Given the description of an element on the screen output the (x, y) to click on. 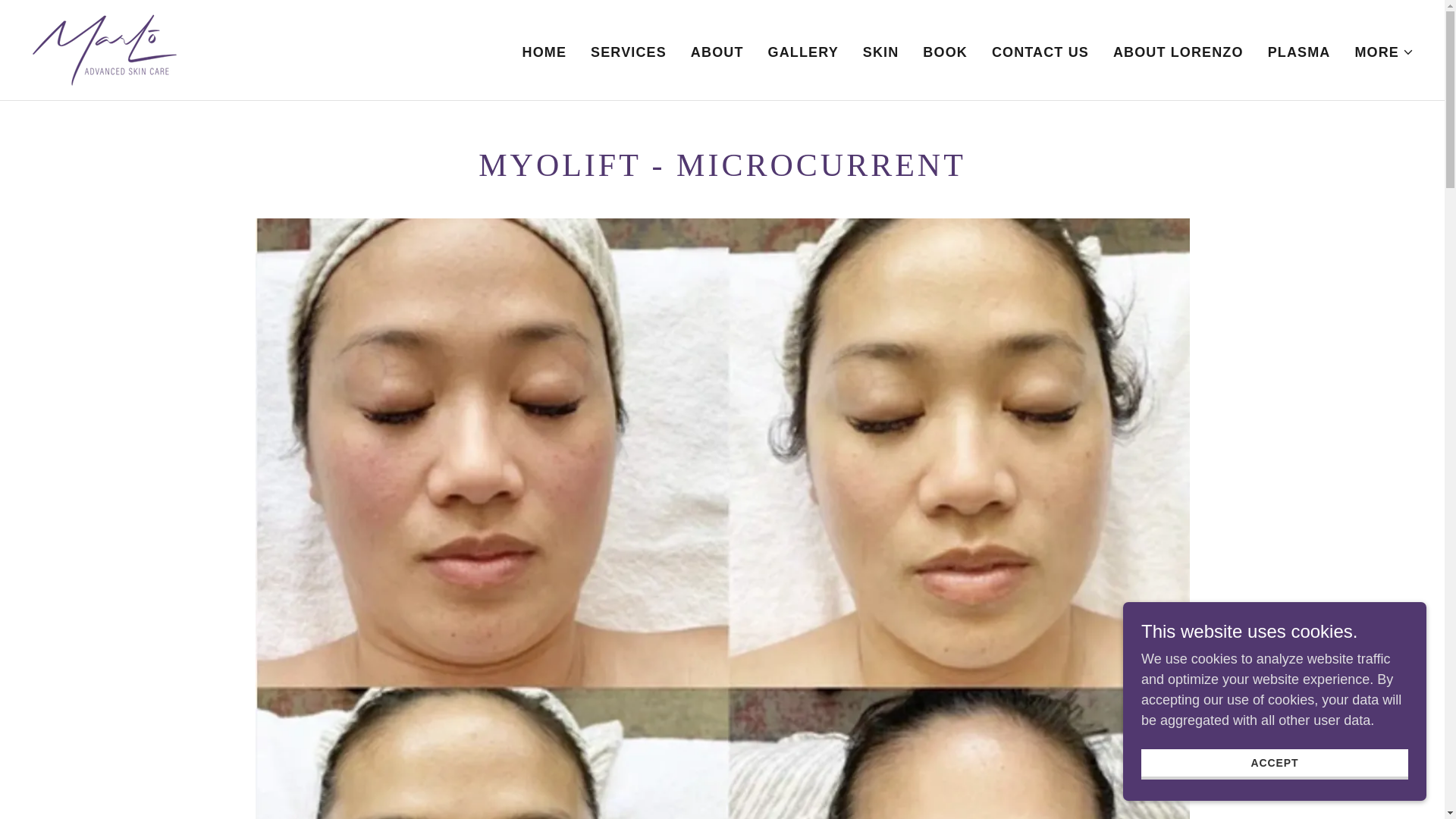
ABOUT LORENZO (1177, 51)
ABOUT (716, 51)
PLASMA (1299, 51)
Marlo LLC (104, 48)
MORE (1383, 51)
GALLERY (802, 51)
SKIN (881, 51)
HOME (545, 51)
SERVICES (628, 51)
CONTACT US (1040, 51)
